Given the description of an element on the screen output the (x, y) to click on. 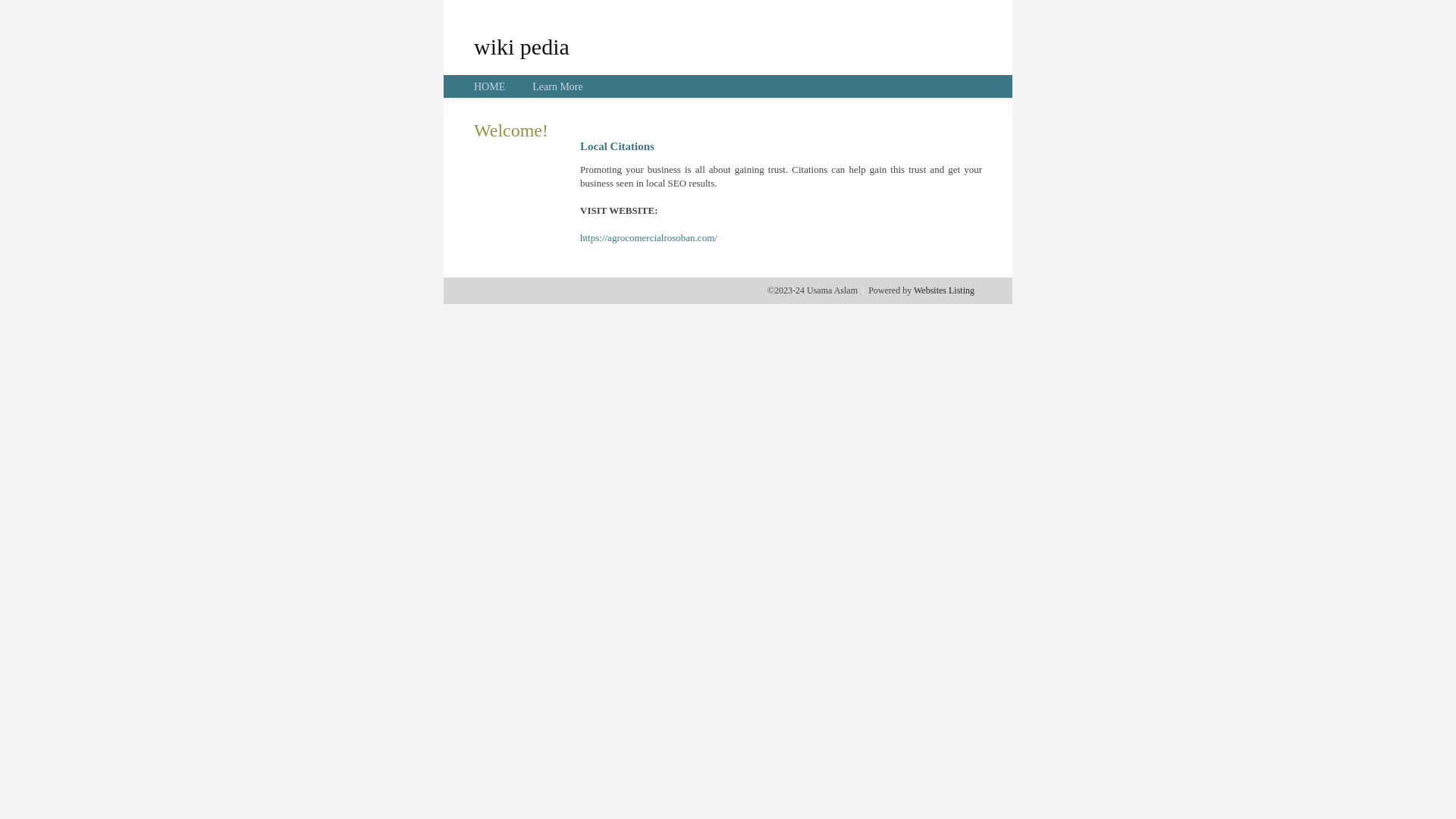
Websites Listing Element type: text (943, 290)
HOME Element type: text (489, 86)
wiki pedia Element type: text (521, 46)
Learn More Element type: text (557, 86)
https://agrocomercialrosoban.com/ Element type: text (648, 237)
